Given the description of an element on the screen output the (x, y) to click on. 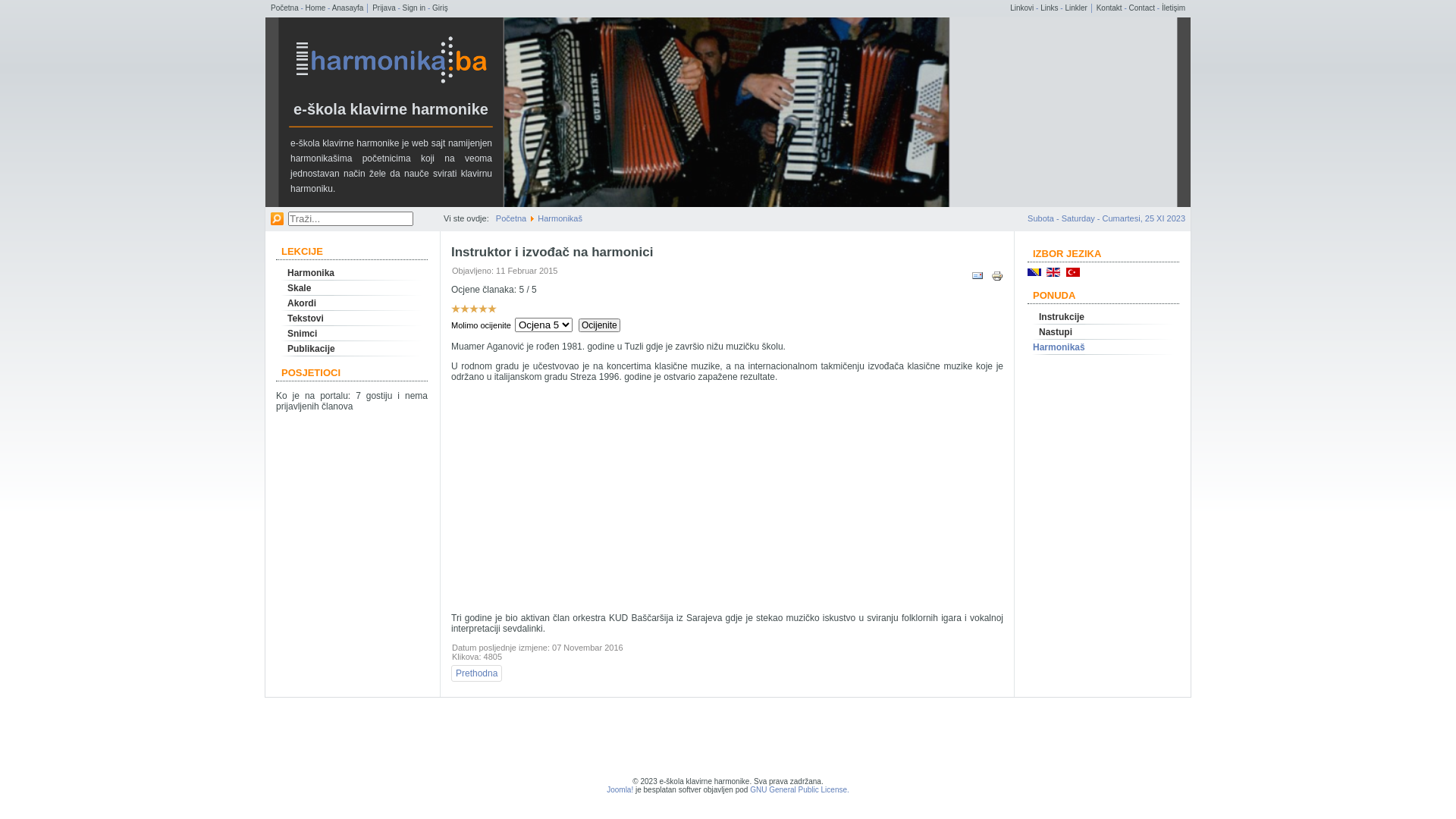
GNU General Public License. Element type: text (799, 789)
Advertisement Element type: hover (1062, 112)
Ocijenite Element type: text (599, 325)
Skale Element type: text (351, 287)
Harmonika Element type: text (351, 272)
Prijava Element type: text (383, 7)
Links Element type: text (1048, 7)
Instrukcije Element type: text (1103, 316)
Kontakt Element type: text (1109, 7)
Bosanski (BiH) Element type: hover (1034, 271)
Joomla! Element type: text (619, 789)
Nastupi Element type: text (1103, 331)
Publikacije Element type: text (351, 348)
Sign in Element type: text (414, 7)
Akordi Element type: text (351, 302)
Linkler Element type: text (1075, 7)
Anasayfa Element type: text (348, 7)
Snimci Element type: text (351, 333)
Prethodna Element type: text (476, 673)
Linkovi Element type: text (1021, 7)
Advertisement Element type: hover (728, 741)
English (UK) Element type: hover (1053, 271)
Advertisement Element type: hover (727, 497)
Tekstovi Element type: text (351, 318)
Contact Element type: text (1141, 7)
Home Element type: text (315, 7)
